Given the description of an element on the screen output the (x, y) to click on. 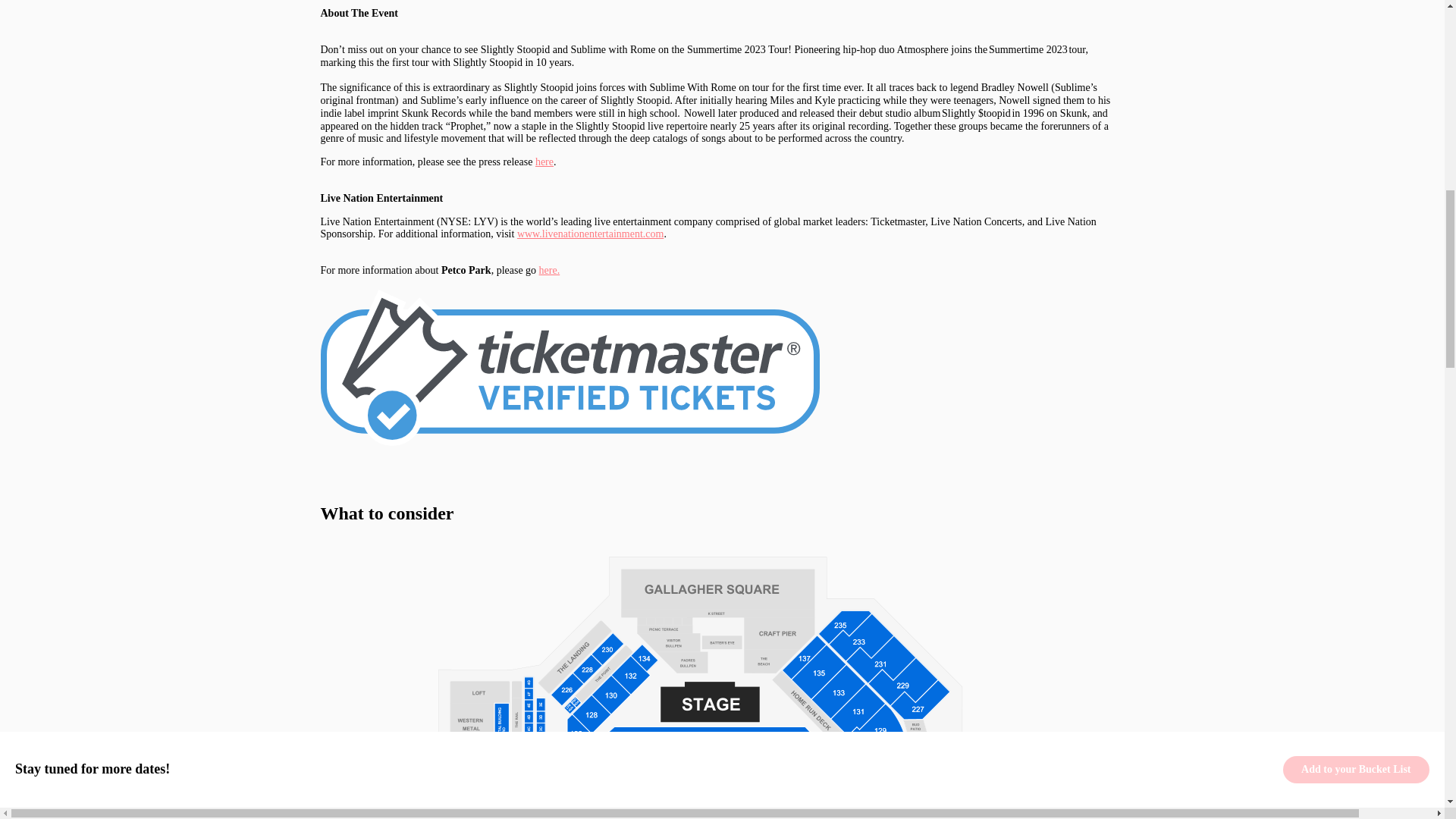
www.livenationentertainment.com (589, 233)
here (544, 161)
here. (549, 270)
